Given the description of an element on the screen output the (x, y) to click on. 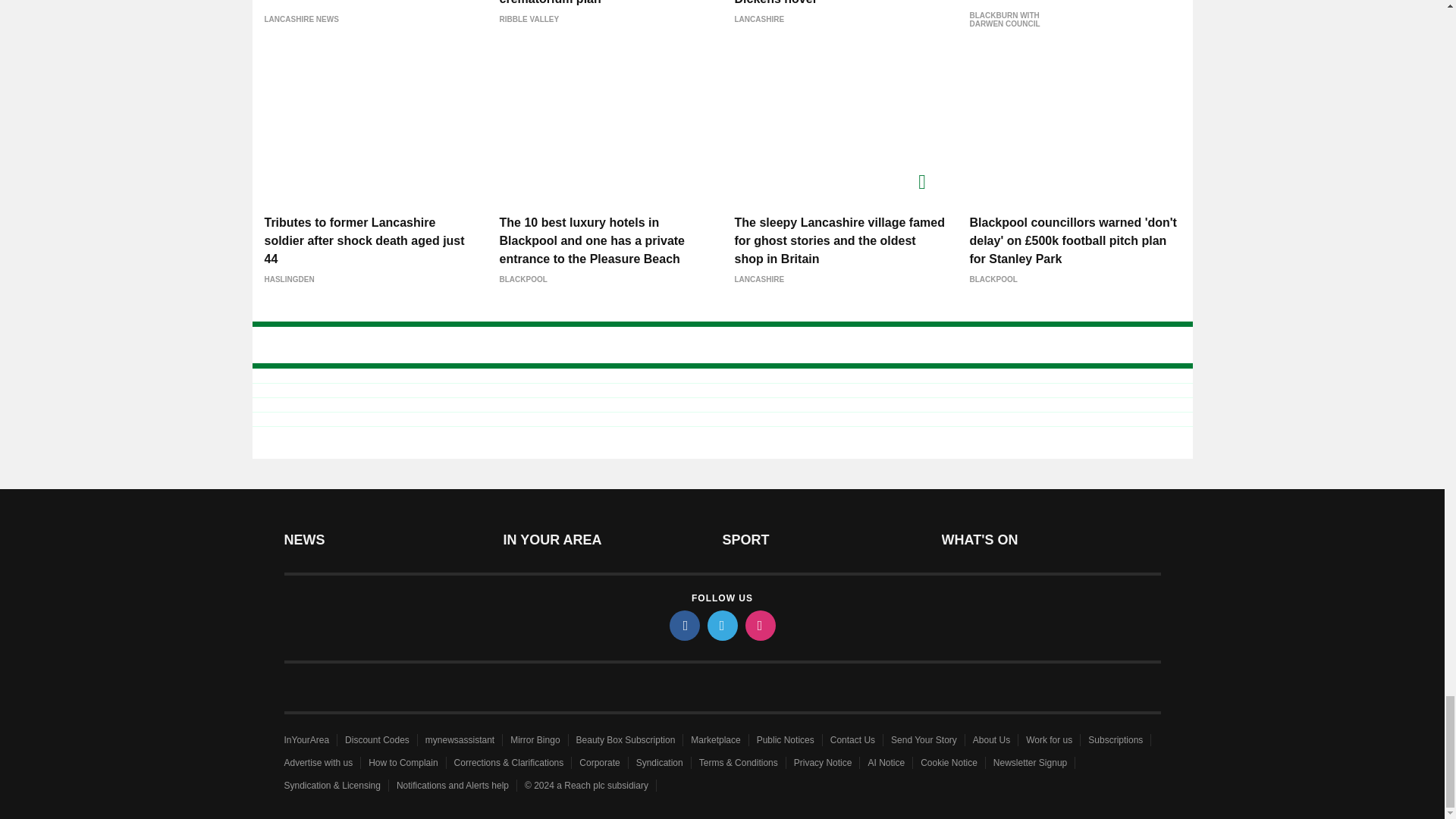
facebook (683, 625)
twitter (721, 625)
instagram (759, 625)
